Given the description of an element on the screen output the (x, y) to click on. 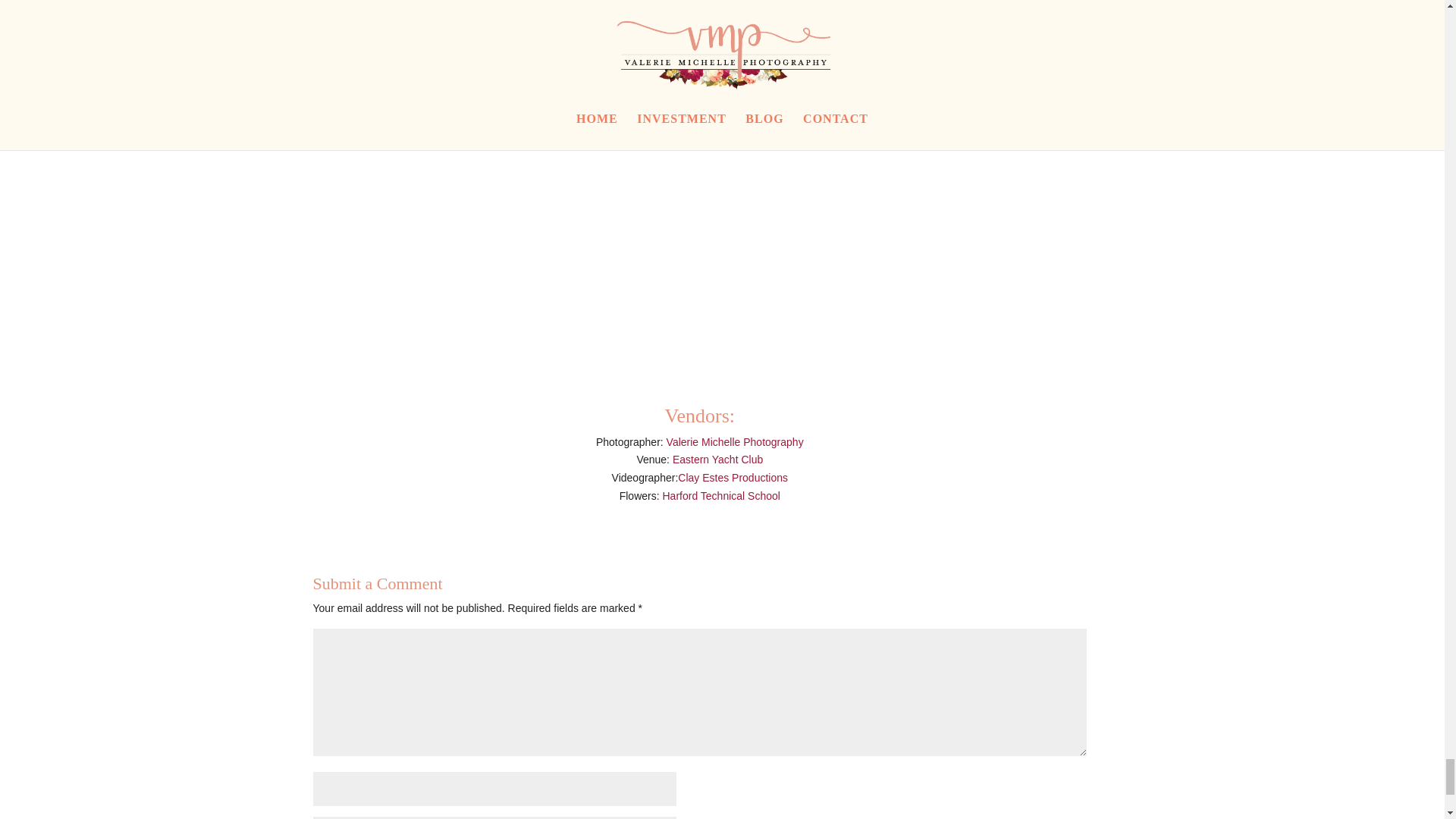
Valerie Michelle Photography (734, 441)
Eastern Yacht Club (717, 459)
Harford Technical School (721, 495)
Clay Estes Productions (732, 477)
